Given the description of an element on the screen output the (x, y) to click on. 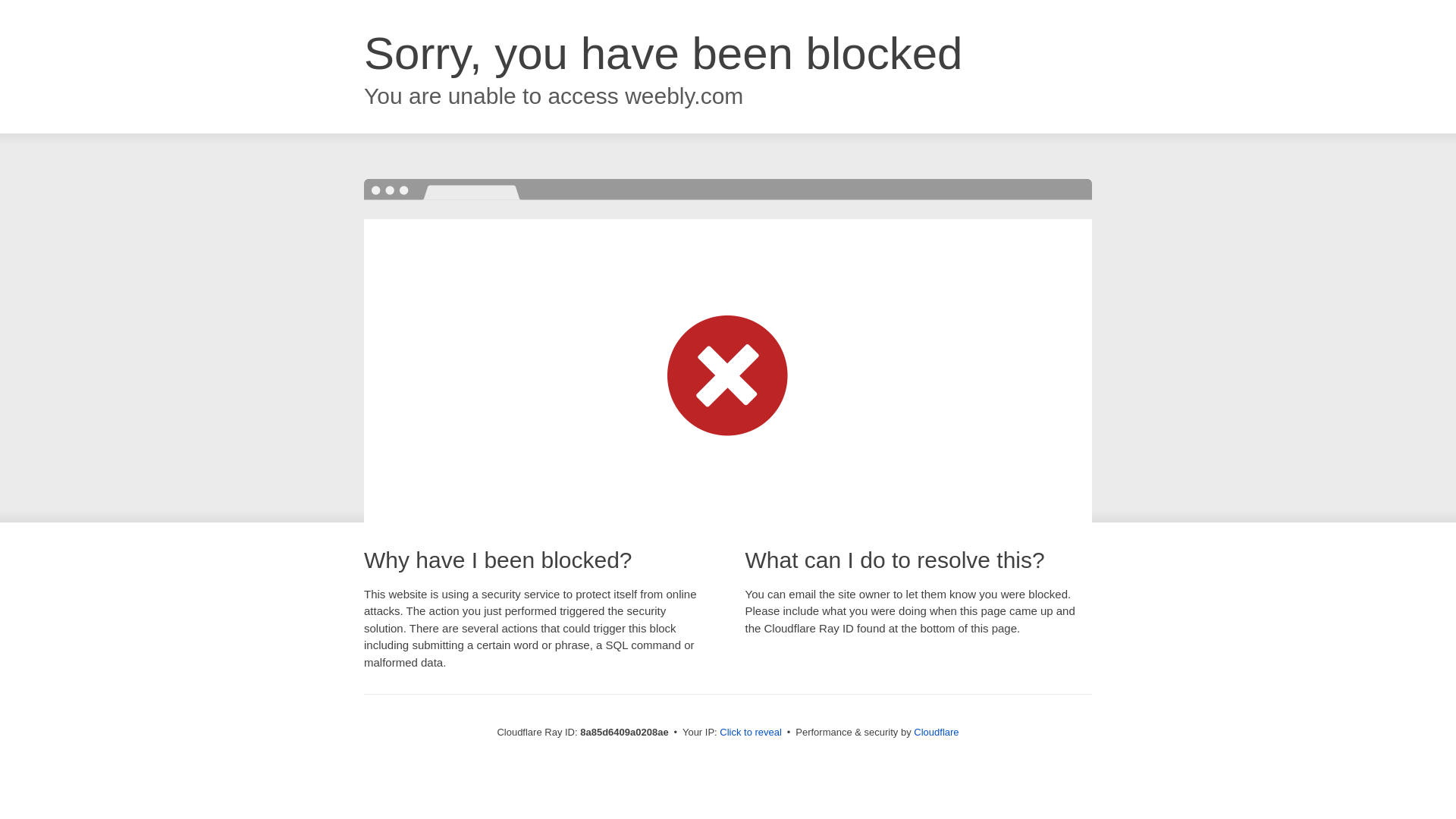
Click to reveal (750, 732)
Cloudflare (936, 731)
